Given the description of an element on the screen output the (x, y) to click on. 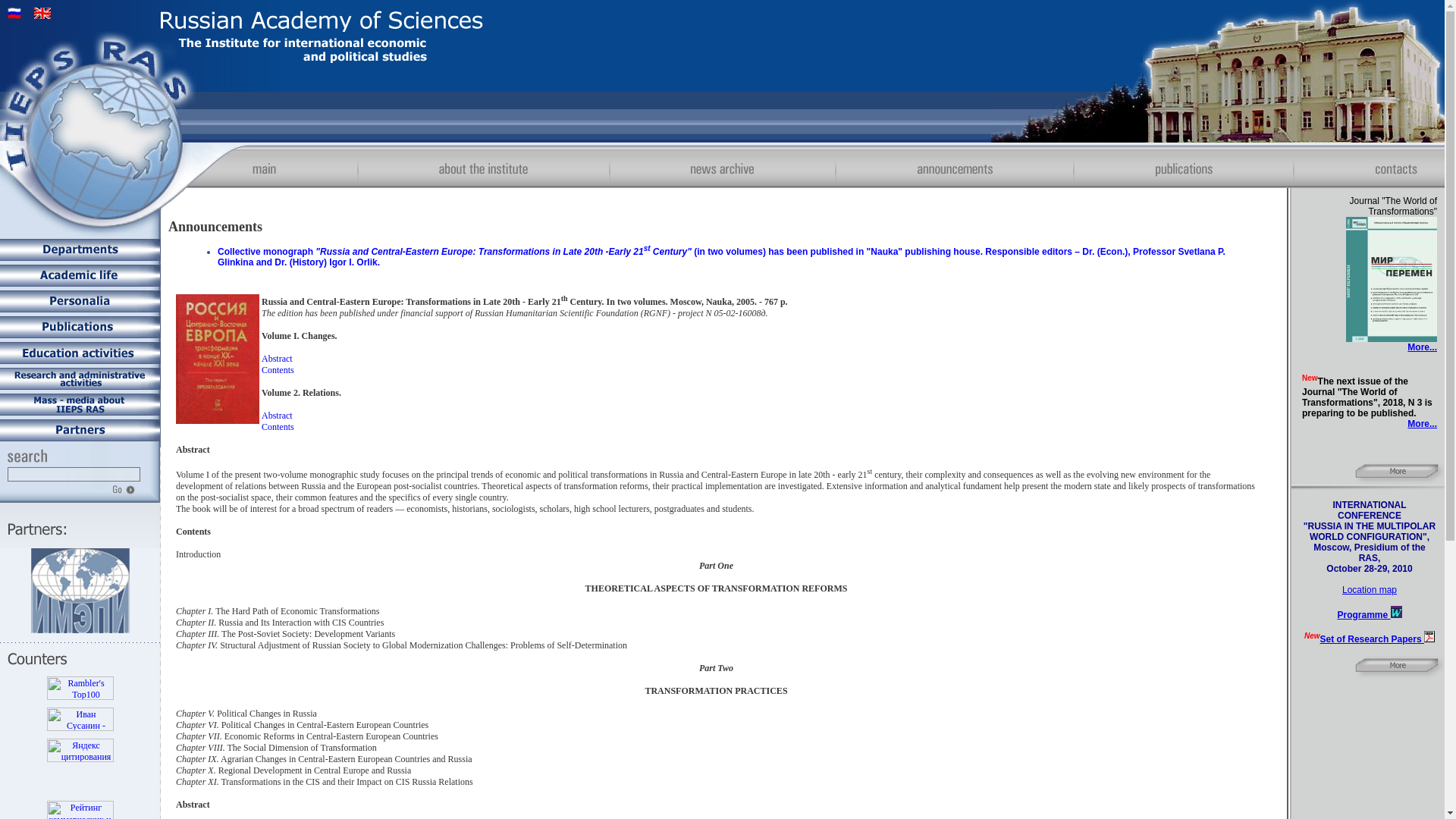
Contents (278, 369)
More... (1422, 423)
More... (1422, 347)
Contents (278, 426)
Set of Research Papers (1377, 638)
Abstract (277, 357)
Programme (1368, 614)
Abstract (277, 415)
Location map (1369, 589)
